Given the description of an element on the screen output the (x, y) to click on. 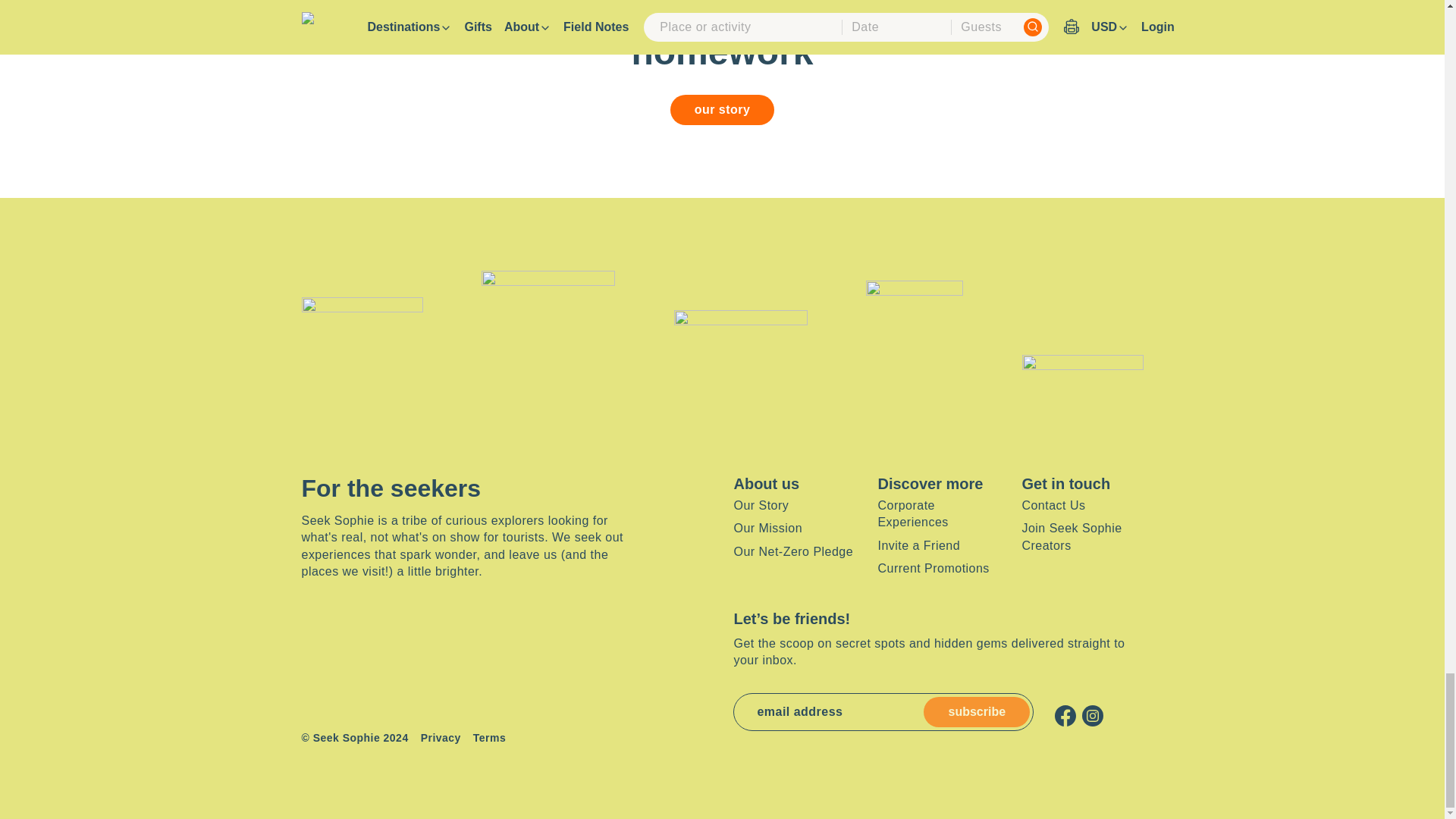
our story (721, 110)
Privacy (440, 738)
Corporate Experiences (912, 513)
Our Mission (767, 527)
Our Net-Zero Pledge (793, 551)
Our Story (761, 504)
Join Seek Sophie Creators (1071, 536)
subscribe (976, 711)
Contact Us (1053, 504)
Current Promotions (932, 567)
